Given the description of an element on the screen output the (x, y) to click on. 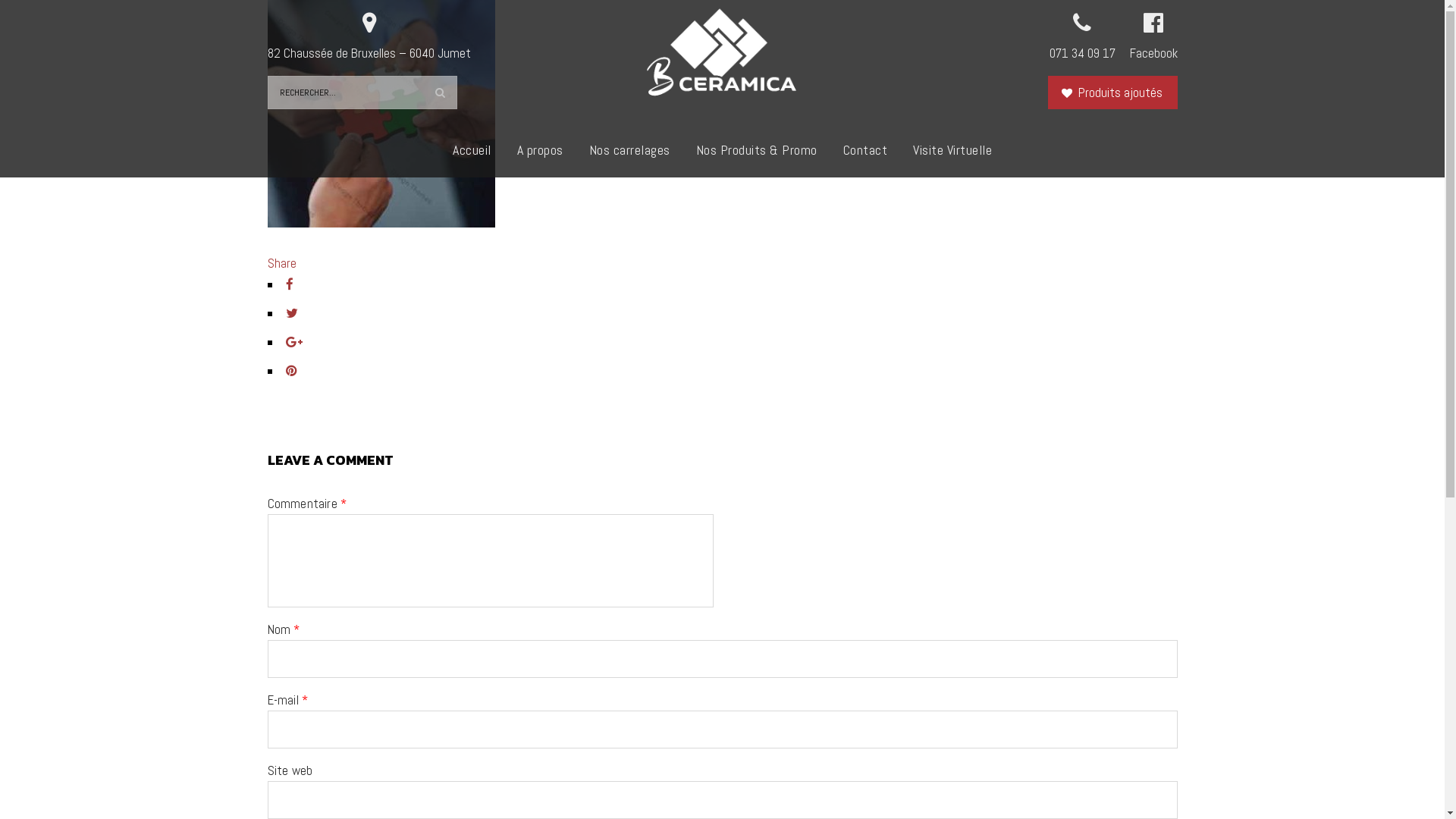
Nos Produits & Promo Element type: text (756, 149)
Facebook Element type: text (1153, 36)
Go Element type: text (438, 92)
Contact Element type: text (864, 149)
Bceramica Element type: hover (720, 54)
Visite Virtuelle Element type: text (952, 149)
A propos Element type: text (539, 149)
Bceramica Element type: hover (720, 52)
Nos carrelages Element type: text (629, 149)
Share Element type: text (280, 262)
071 34 09 17 Element type: text (1082, 36)
Accueil Element type: text (471, 149)
